Given the description of an element on the screen output the (x, y) to click on. 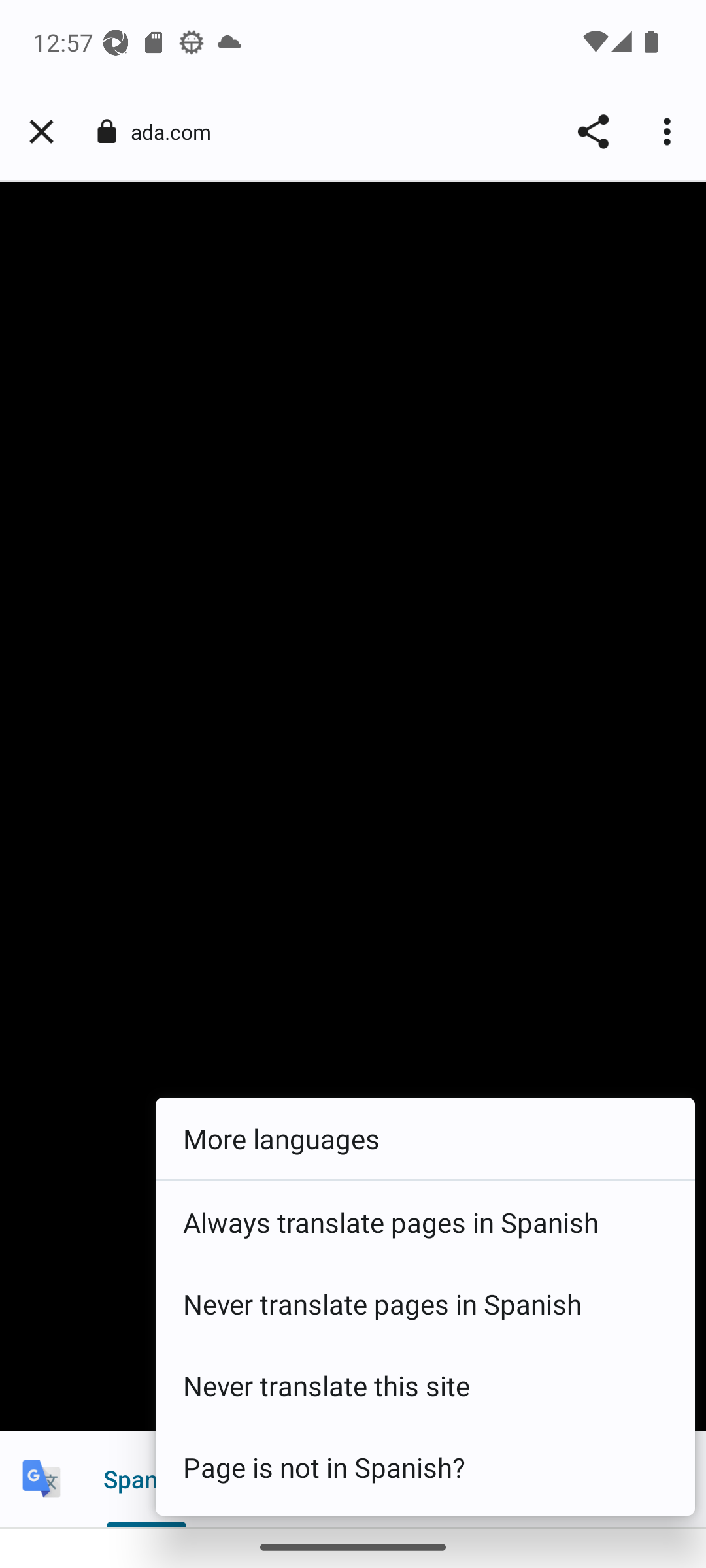
More languages (424, 1138)
Always translate pages in Spanish (424, 1221)
Never translate pages in Spanish (424, 1303)
Never translate this site (424, 1385)
Page is not in Spanish? (424, 1467)
